Given the description of an element on the screen output the (x, y) to click on. 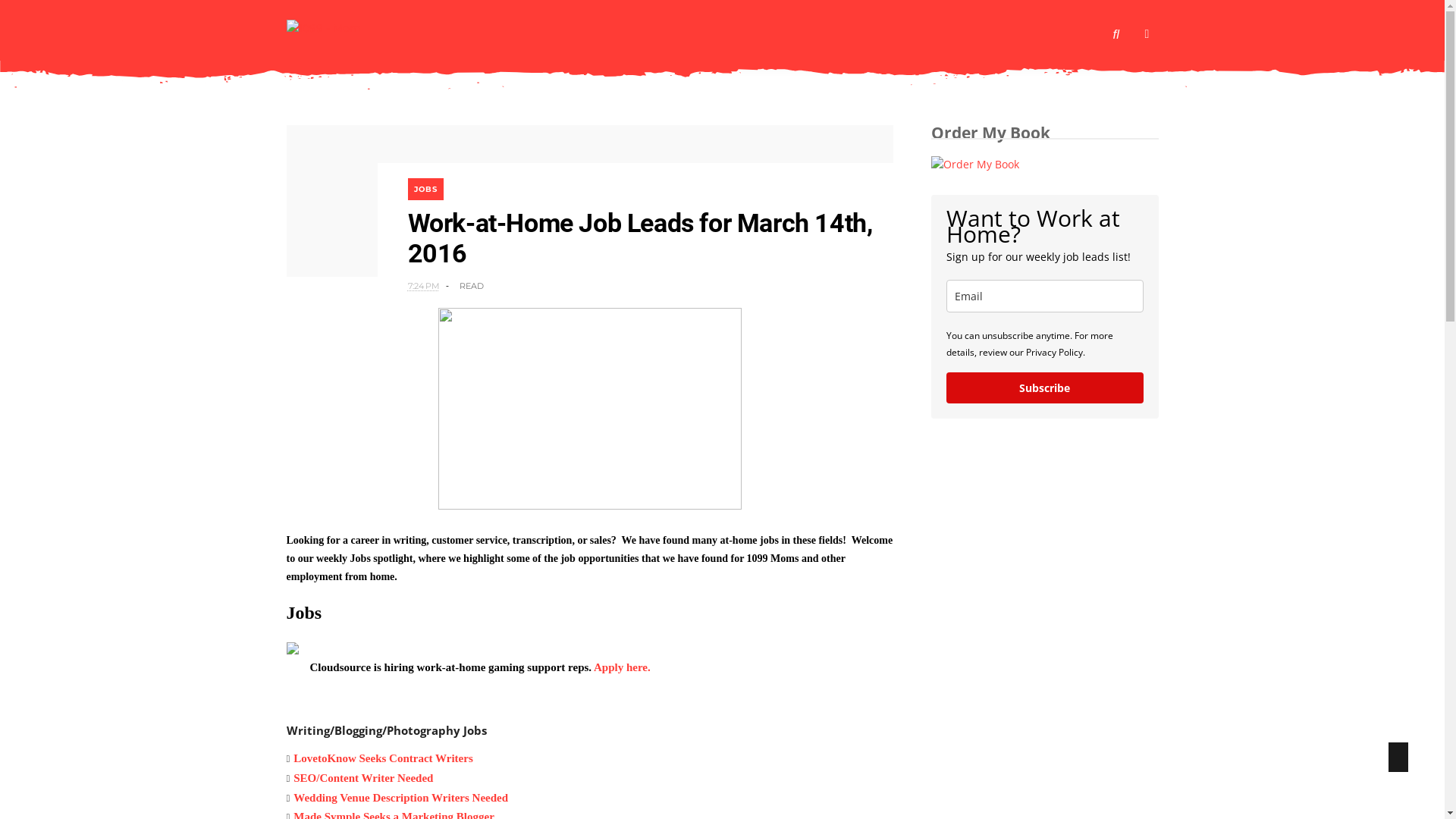
Apply here. Element type: text (621, 667)
LovetoKnow Seeks Contract Writers  Element type: text (384, 758)
Wedding Venue Description Writers Needed Element type: text (400, 797)
JOBS Element type: text (425, 189)
Back to Top Element type: hover (1398, 756)
Subscribe Element type: text (1044, 387)
SEO/Content Writer Needed Element type: text (363, 777)
